Given the description of an element on the screen output the (x, y) to click on. 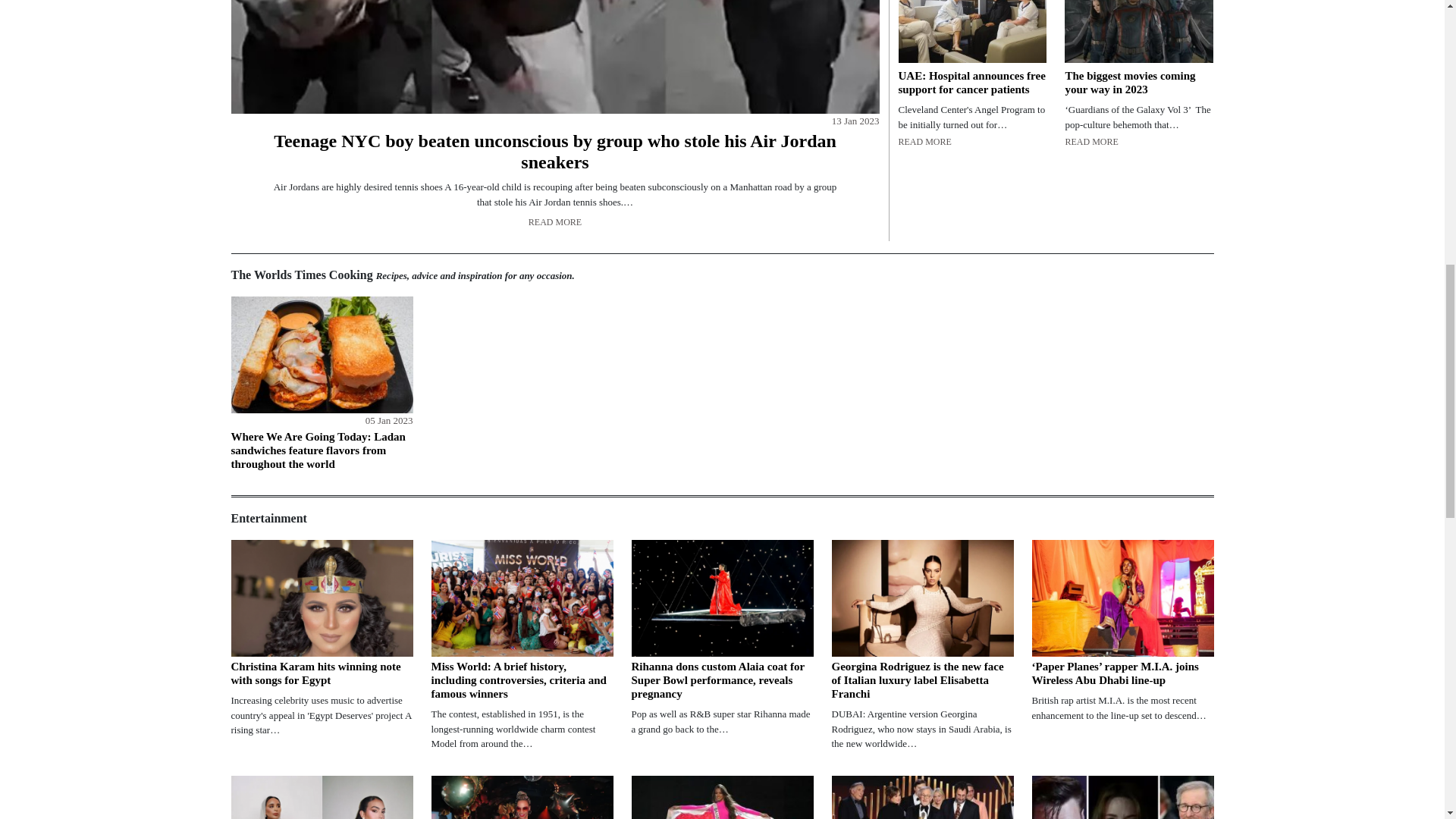
The biggest movies coming your way in 2023 (1138, 31)
Golden Globe Awards 2023: Check Full List of Winners (1121, 797)
Christina Karam hits winning note with songs for Egypt (321, 597)
UAE: Hospital announces free support for cancer patients (972, 31)
